Given the description of an element on the screen output the (x, y) to click on. 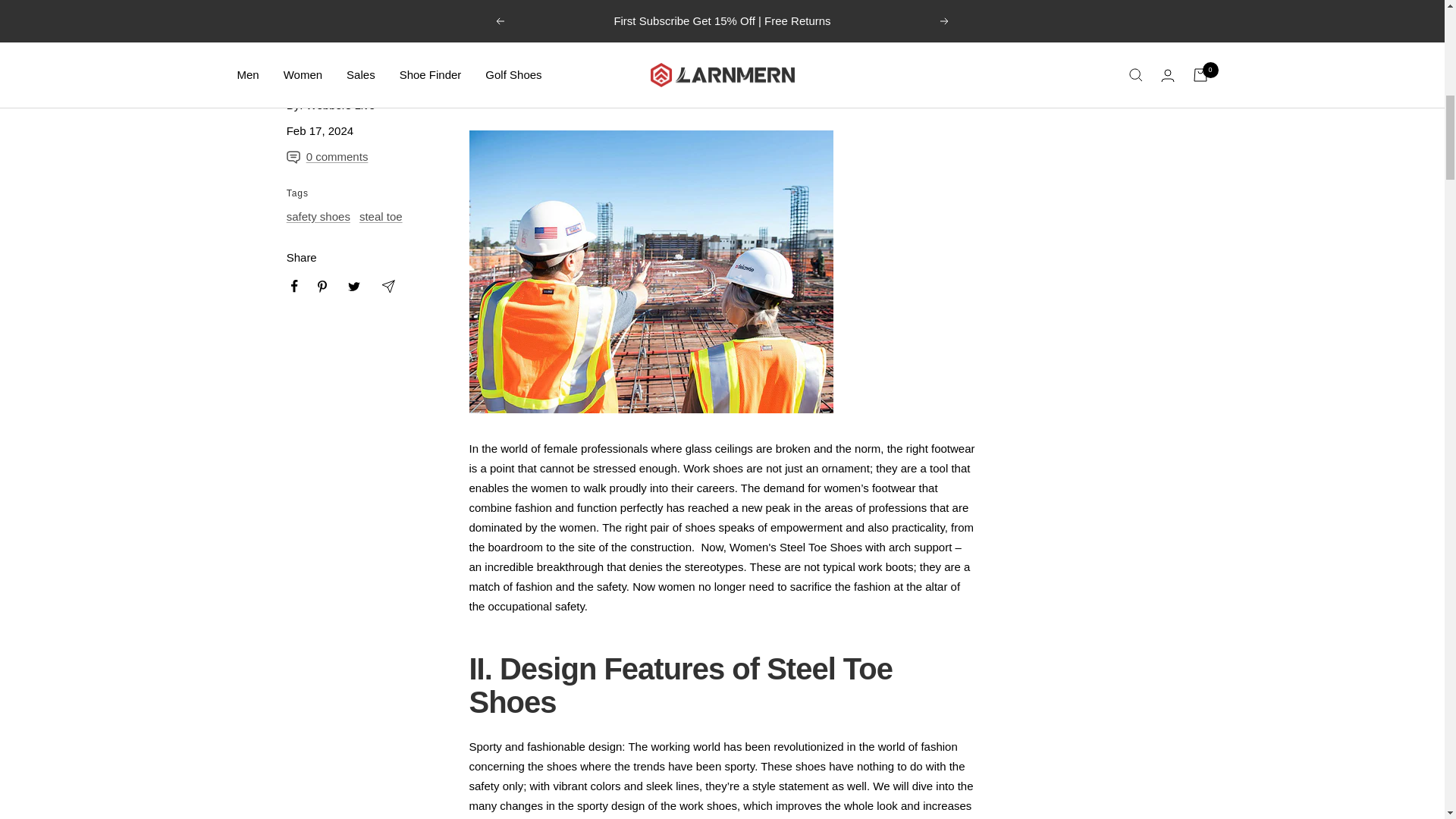
safety shoes (318, 215)
steal toe (381, 215)
0 comments (330, 157)
